Given the description of an element on the screen output the (x, y) to click on. 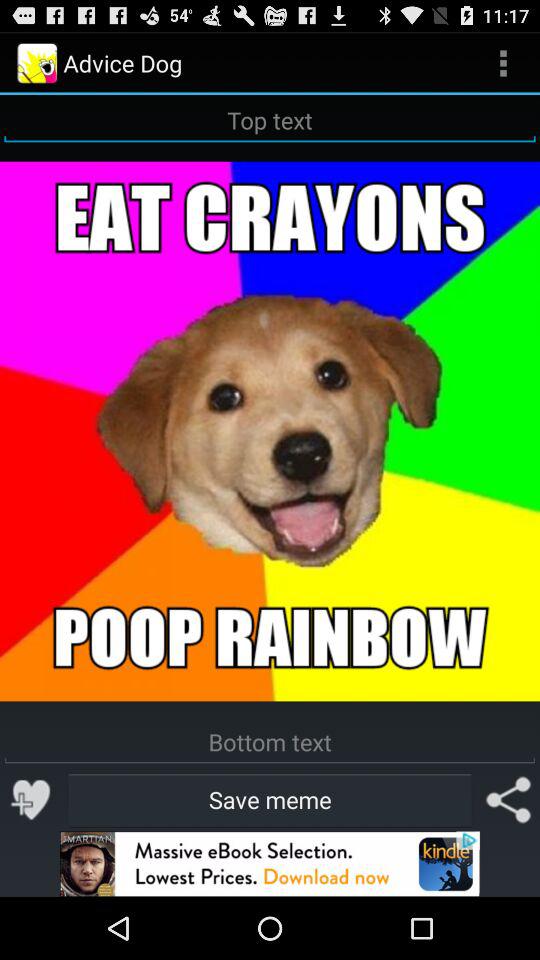
share the meme (508, 799)
